Given the description of an element on the screen output the (x, y) to click on. 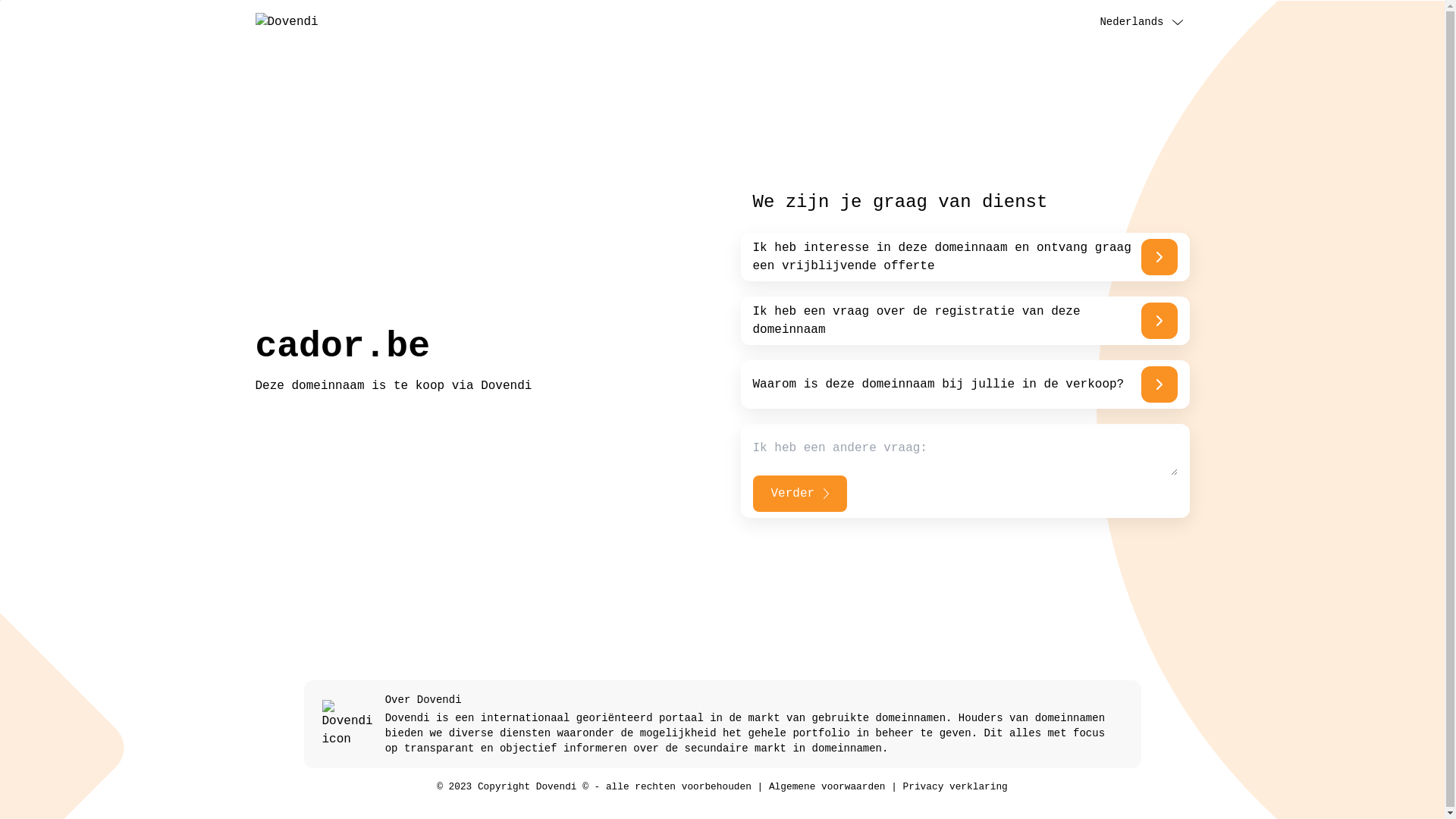
Algemene voorwaarden Element type: text (826, 786)
Privacy verklaring Element type: text (955, 786)
Verder Element type: text (799, 493)
